Given the description of an element on the screen output the (x, y) to click on. 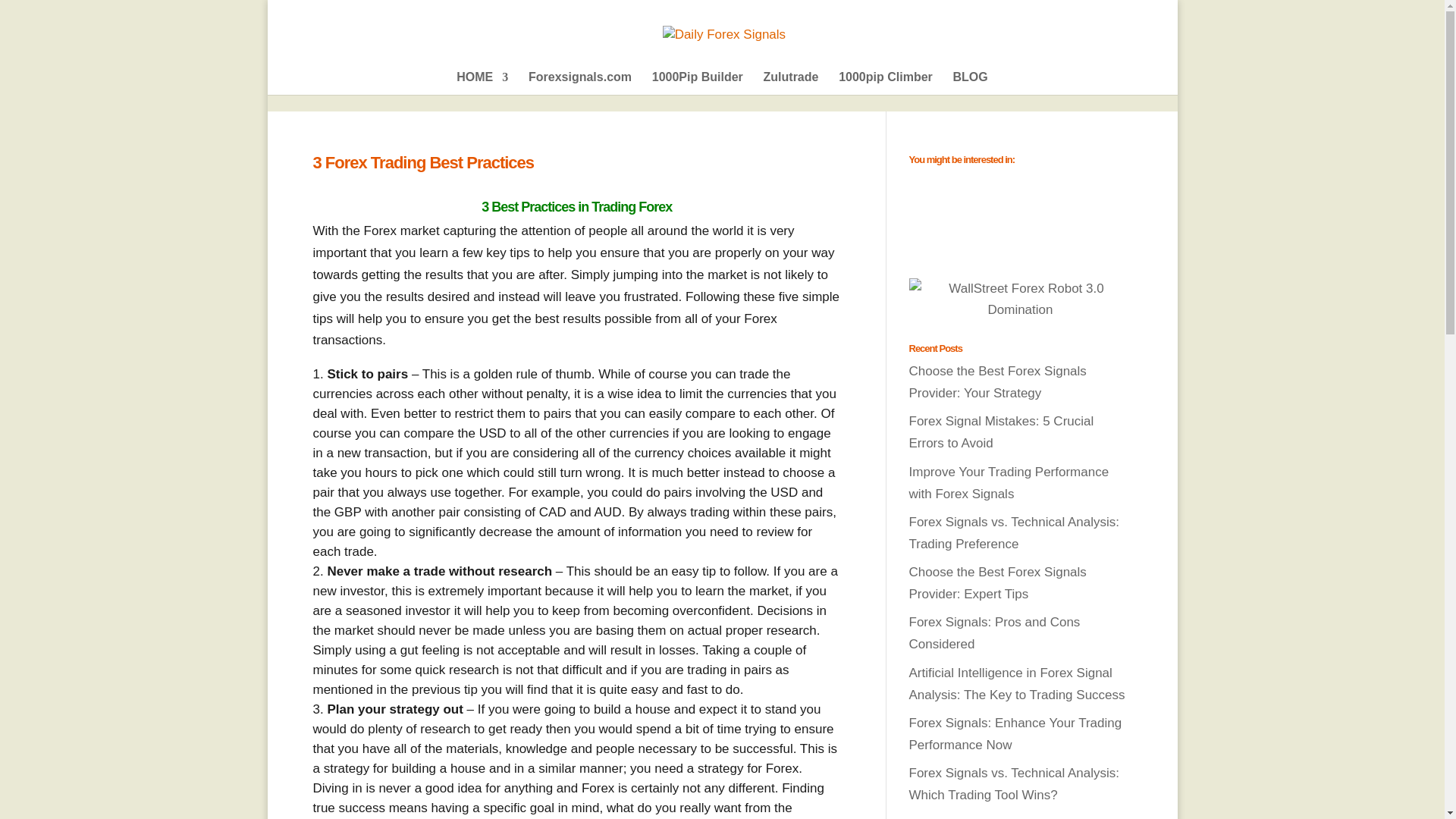
Forex Signals: Enhance Your Trading Performance Now (1014, 733)
Forexsignals.com (579, 83)
HOME (482, 83)
Improve Your Trading Performance with Forex Signals (1008, 483)
Choose the Best Forex Signals Provider: Expert Tips (997, 583)
BLOG (970, 83)
Forex Signal Mistakes: 5 Crucial Errors to Avoid (1000, 432)
Forex Signals: Pros and Cons Considered (994, 633)
